Given the description of an element on the screen output the (x, y) to click on. 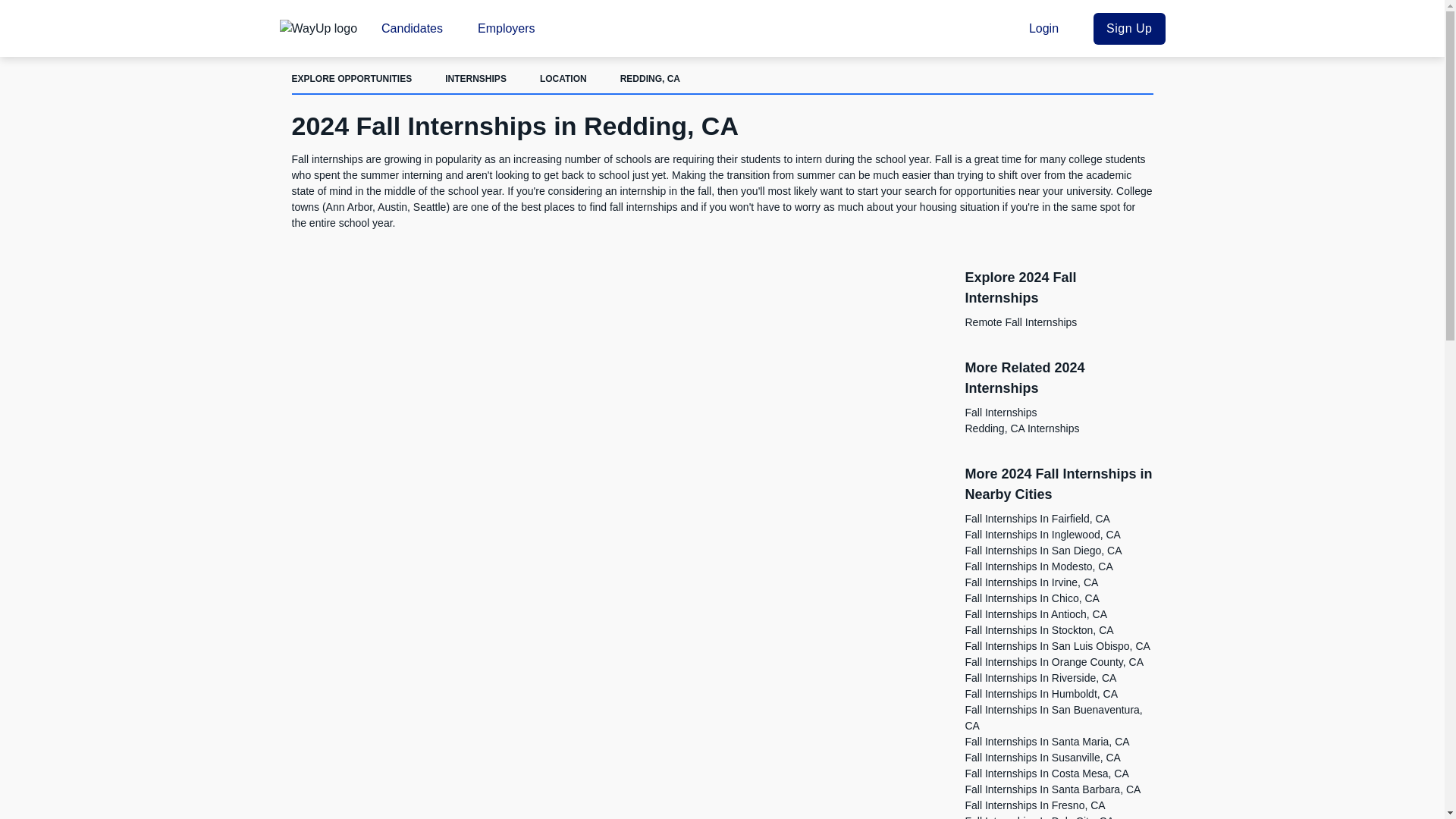
Fall Internships In Humboldt, CA (1040, 693)
Fall Internships In Susanville, CA (1041, 757)
EXPLORE OPPORTUNITIES (351, 78)
Fall Internships In Chico, CA (1031, 598)
Sign Up (1128, 28)
Fall Internships In Fresno, CA (1034, 805)
Fall Internships In San Buenaventura, CA (1052, 717)
REDDING, CA (649, 78)
INTERNSHIPS (475, 78)
Fall Internships In Daly City, CA (1038, 816)
Fall Internships In Riverside, CA (1039, 677)
Sign Up (1128, 28)
Remote Fall Internships (1020, 322)
Fall Internships In Antioch, CA (1034, 613)
Fall Internships In Modesto, CA (1037, 566)
